Given the description of an element on the screen output the (x, y) to click on. 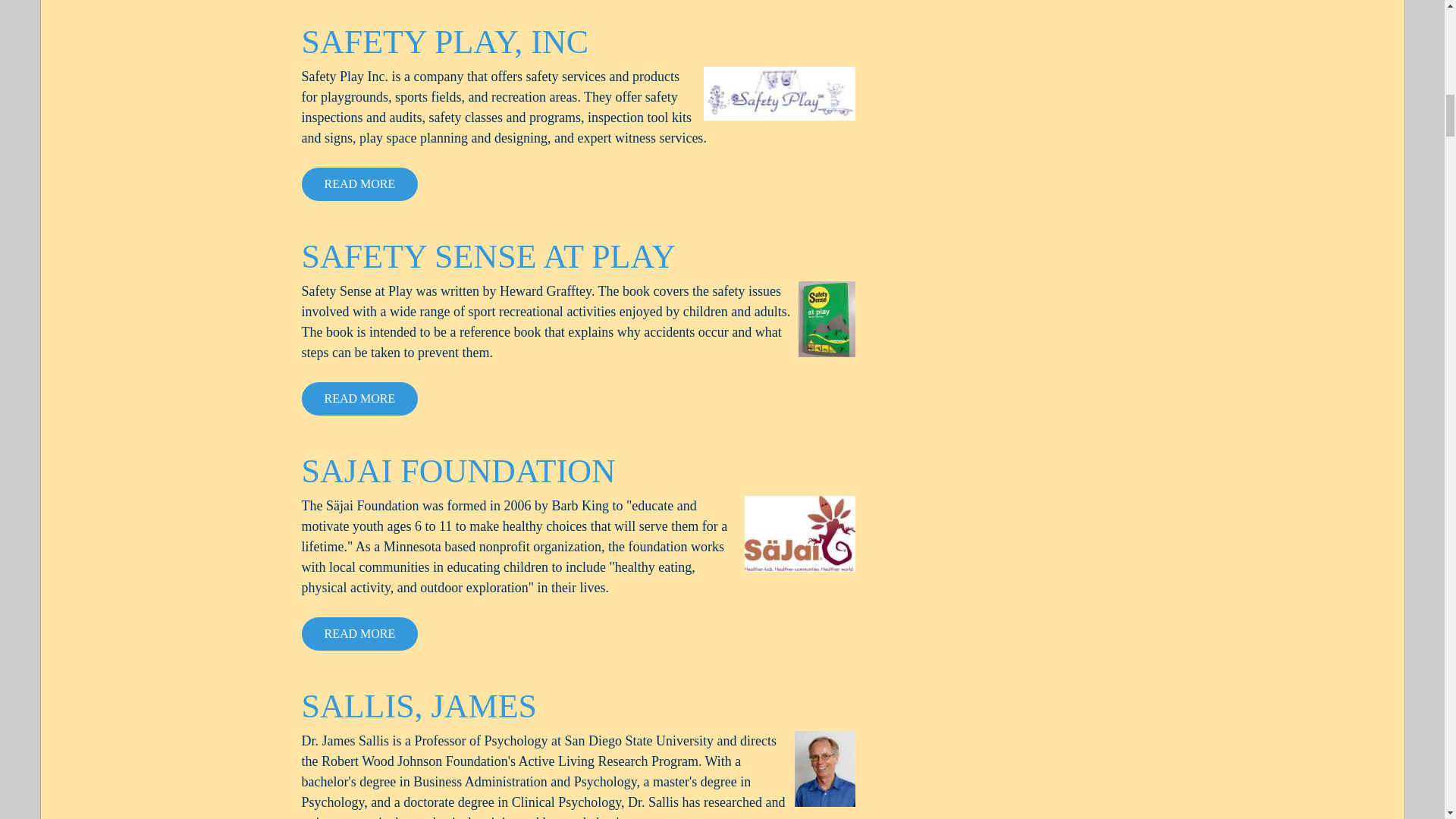
Sajai Foundation (800, 533)
Safety Play, Inc (779, 93)
